Given the description of an element on the screen output the (x, y) to click on. 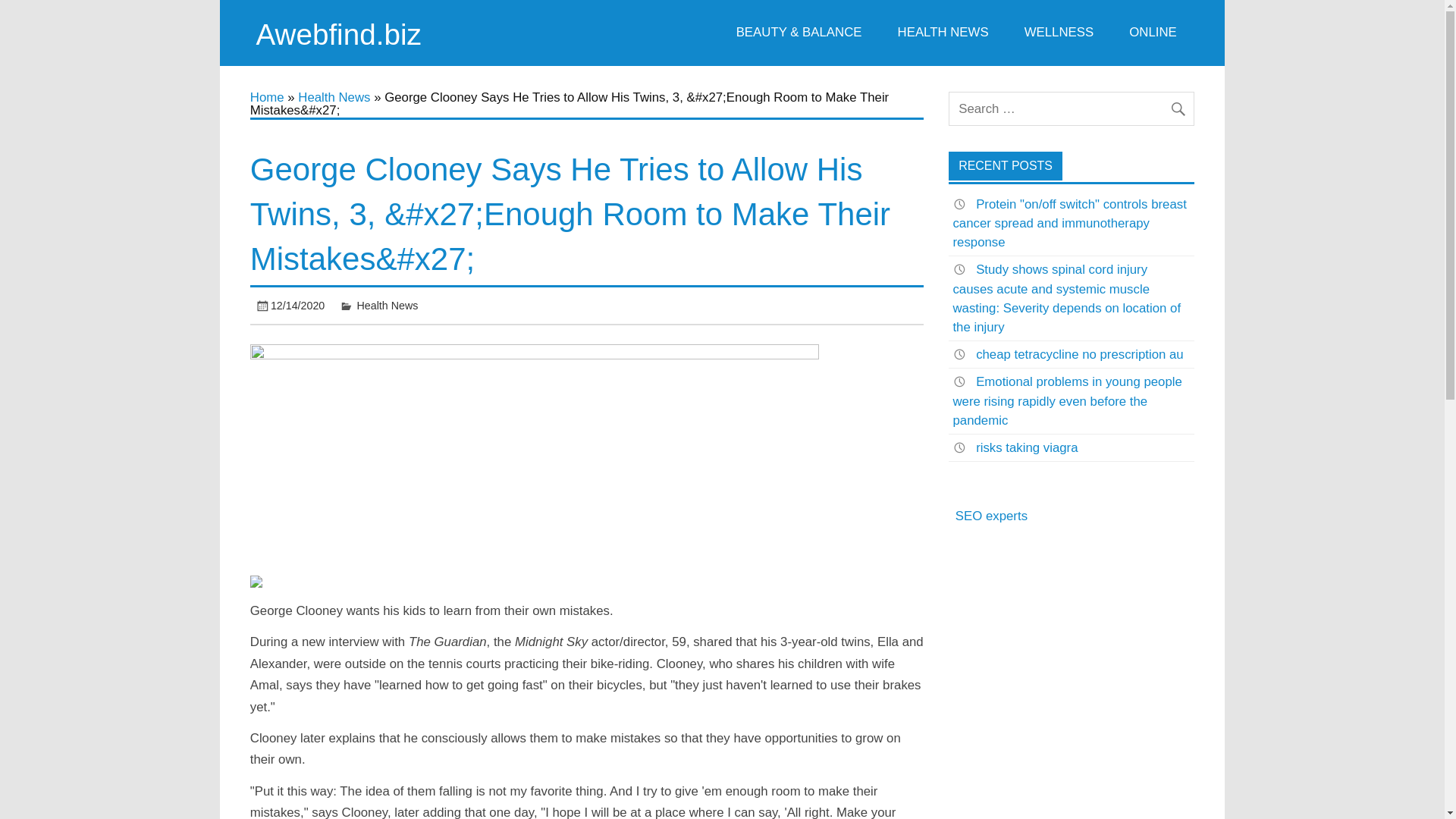
Home (266, 97)
HEALTH NEWS (942, 33)
SEO experts (991, 515)
Health News (333, 97)
cheap tetracycline no prescription au (1079, 354)
risks taking viagra (1026, 447)
WELLNESS (1059, 33)
5:41 pm (297, 305)
